Given the description of an element on the screen output the (x, y) to click on. 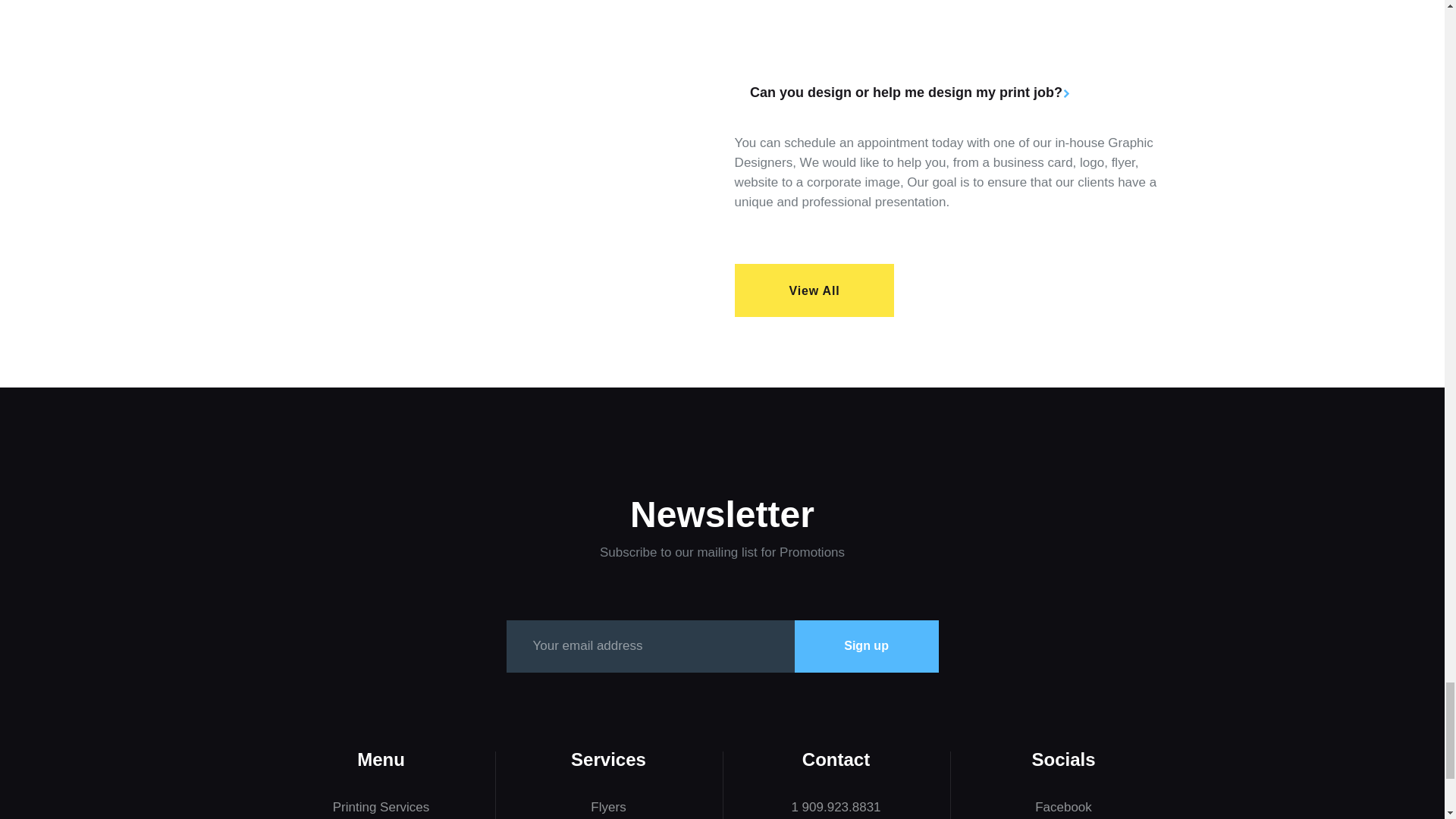
Sign up (866, 645)
Can you design or help me design my print job? (953, 93)
View All (815, 289)
Sign up (866, 645)
Printing Services (381, 807)
